Given the description of an element on the screen output the (x, y) to click on. 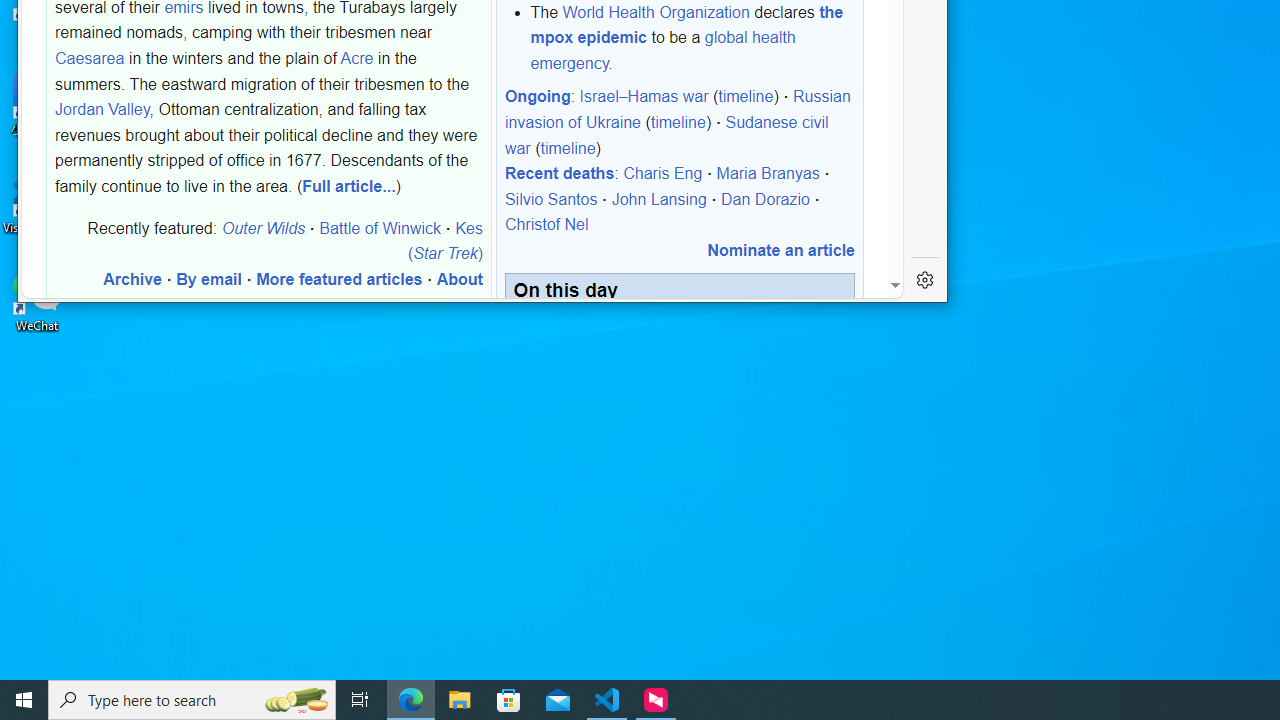
File Explorer (460, 699)
Task View (359, 699)
Microsoft Store (509, 699)
Visual Studio Code - 1 running window (607, 699)
Type here to search (191, 699)
Search highlights icon opens search home window (295, 699)
Microsoft Edge - 1 running window (411, 699)
Start (24, 699)
